Given the description of an element on the screen output the (x, y) to click on. 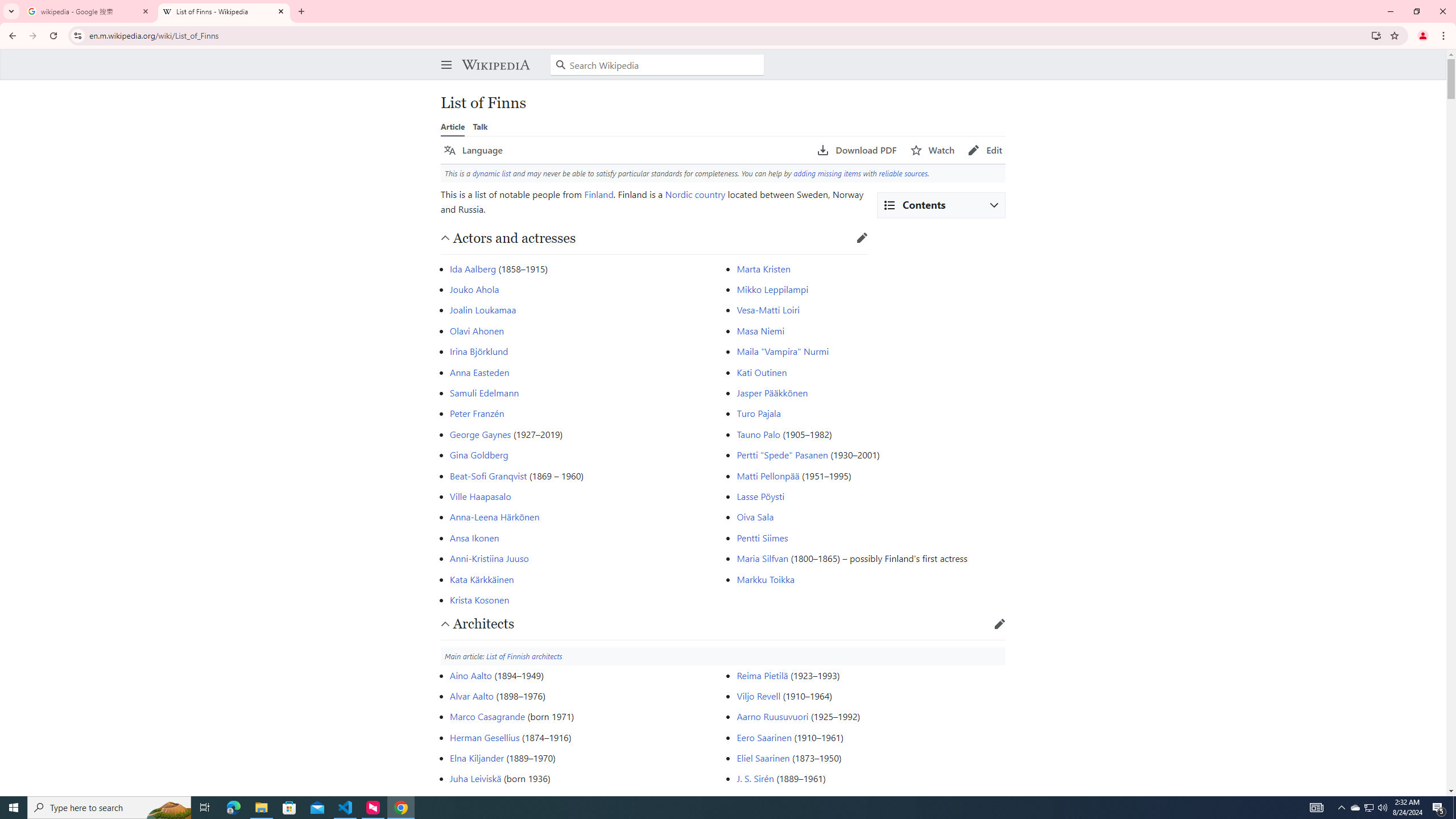
Olavi Ahonen (476, 330)
List of Finns - Wikipedia (224, 11)
Language (472, 149)
List of Finnish architects (524, 656)
Ansa Ikonen (474, 537)
Ida Aalberg (472, 268)
Turo Pajala (758, 413)
AutomationID: page-actions-watch (932, 150)
Mikko Leppilampi (772, 289)
Alvar Aalto (471, 695)
Anna Easteden (479, 372)
Elna Kiljander (476, 757)
